Given the description of an element on the screen output the (x, y) to click on. 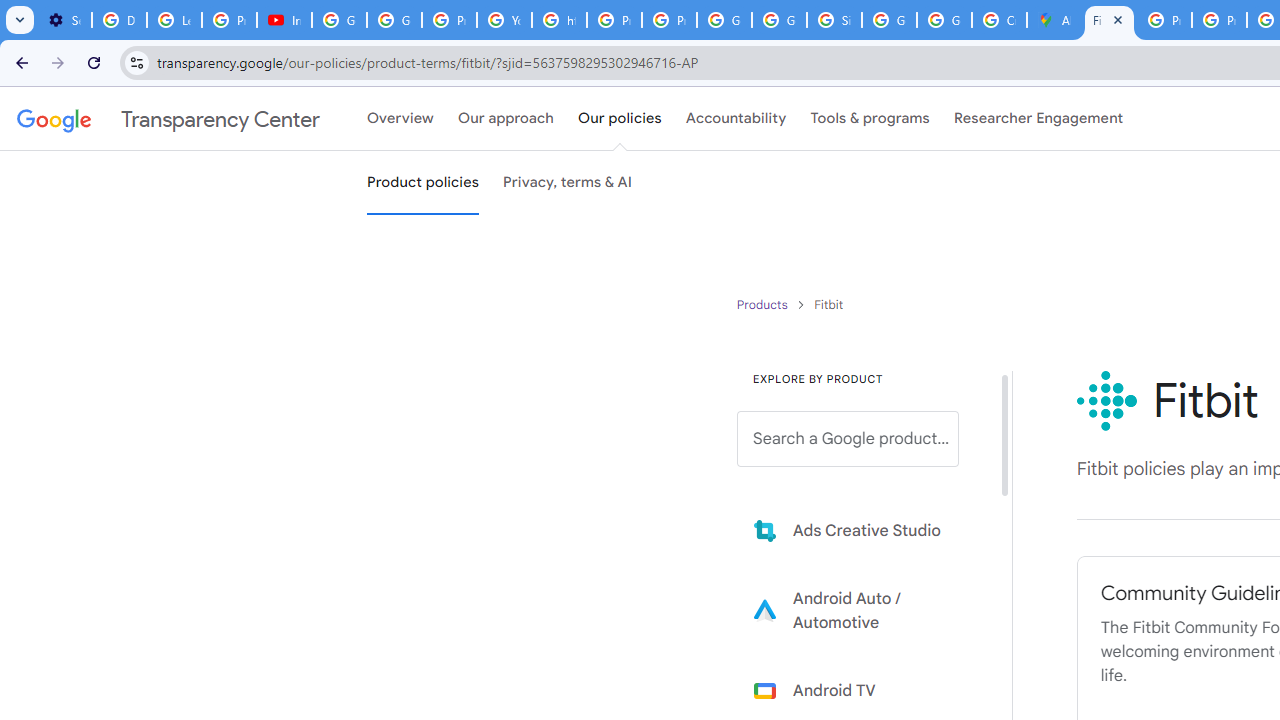
Settings - Performance (64, 20)
Privacy Help Center - Policies Help (614, 20)
Privacy Help Center - Policies Help (1163, 20)
Learn how to find your photos - Google Photos Help (174, 20)
Product policies (763, 304)
Our policies (619, 119)
Accountability (735, 119)
Privacy, terms & AI (568, 183)
